Given the description of an element on the screen output the (x, y) to click on. 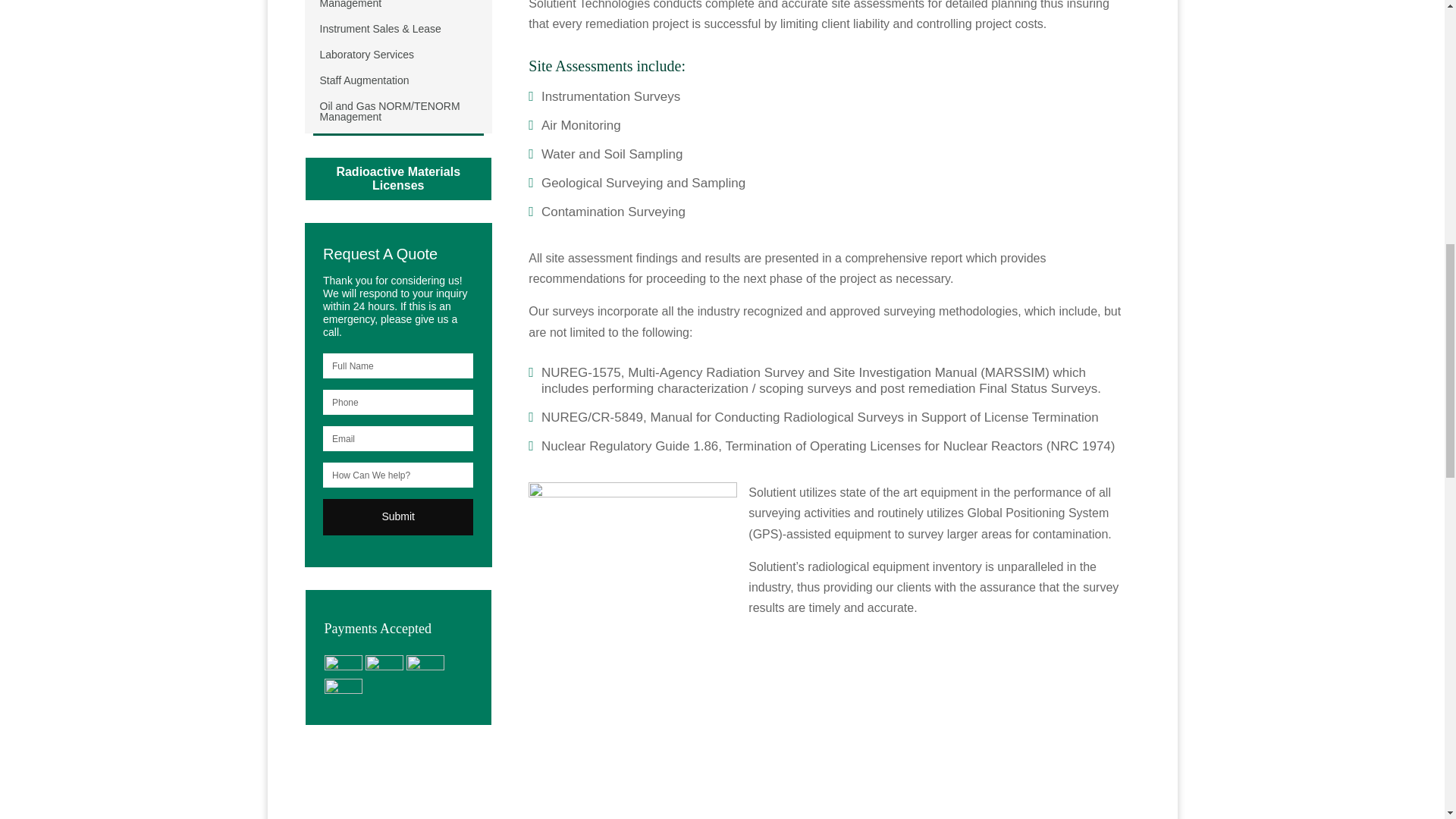
Submit (398, 516)
